Given the description of an element on the screen output the (x, y) to click on. 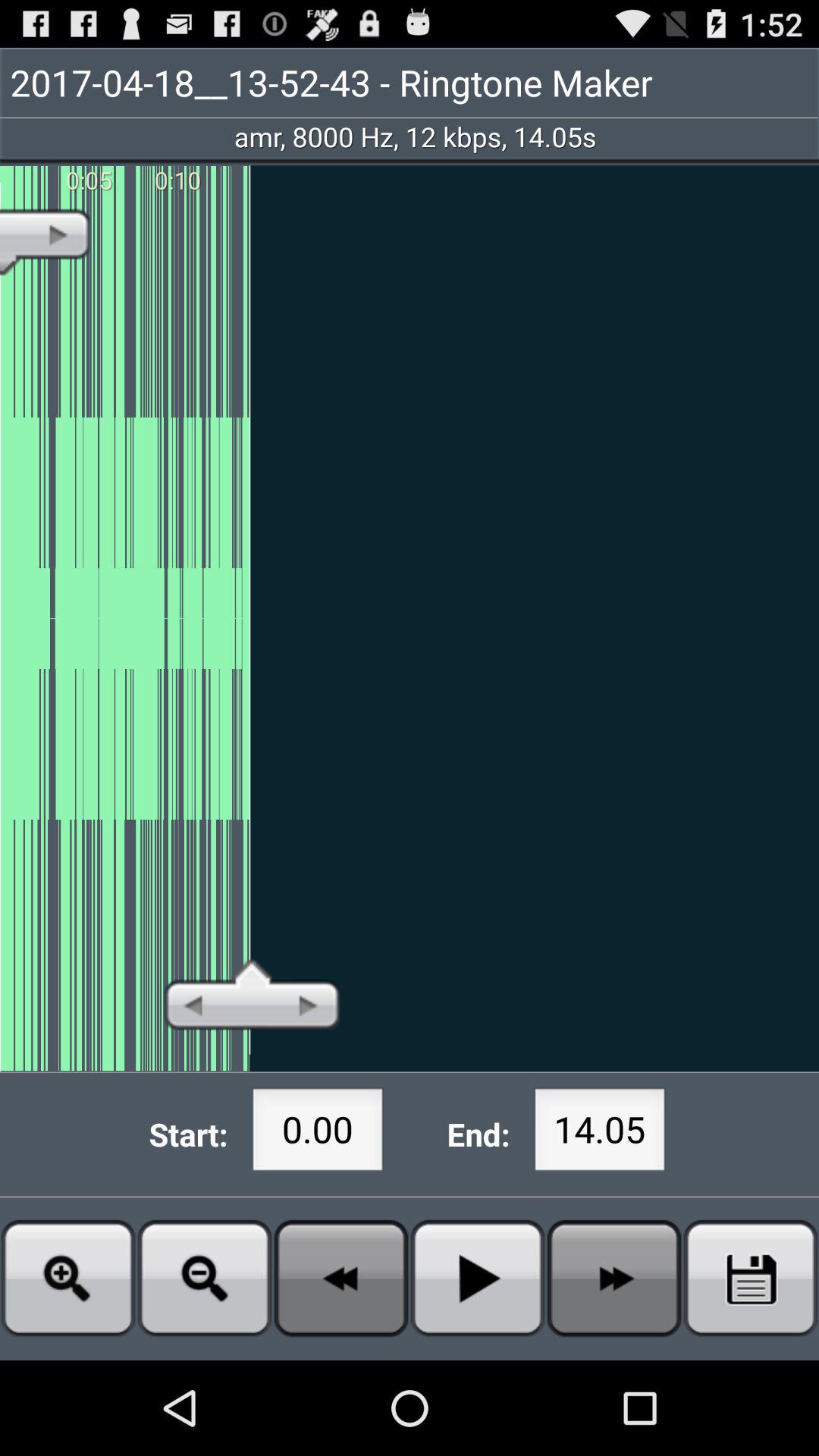
save (750, 1278)
